Given the description of an element on the screen output the (x, y) to click on. 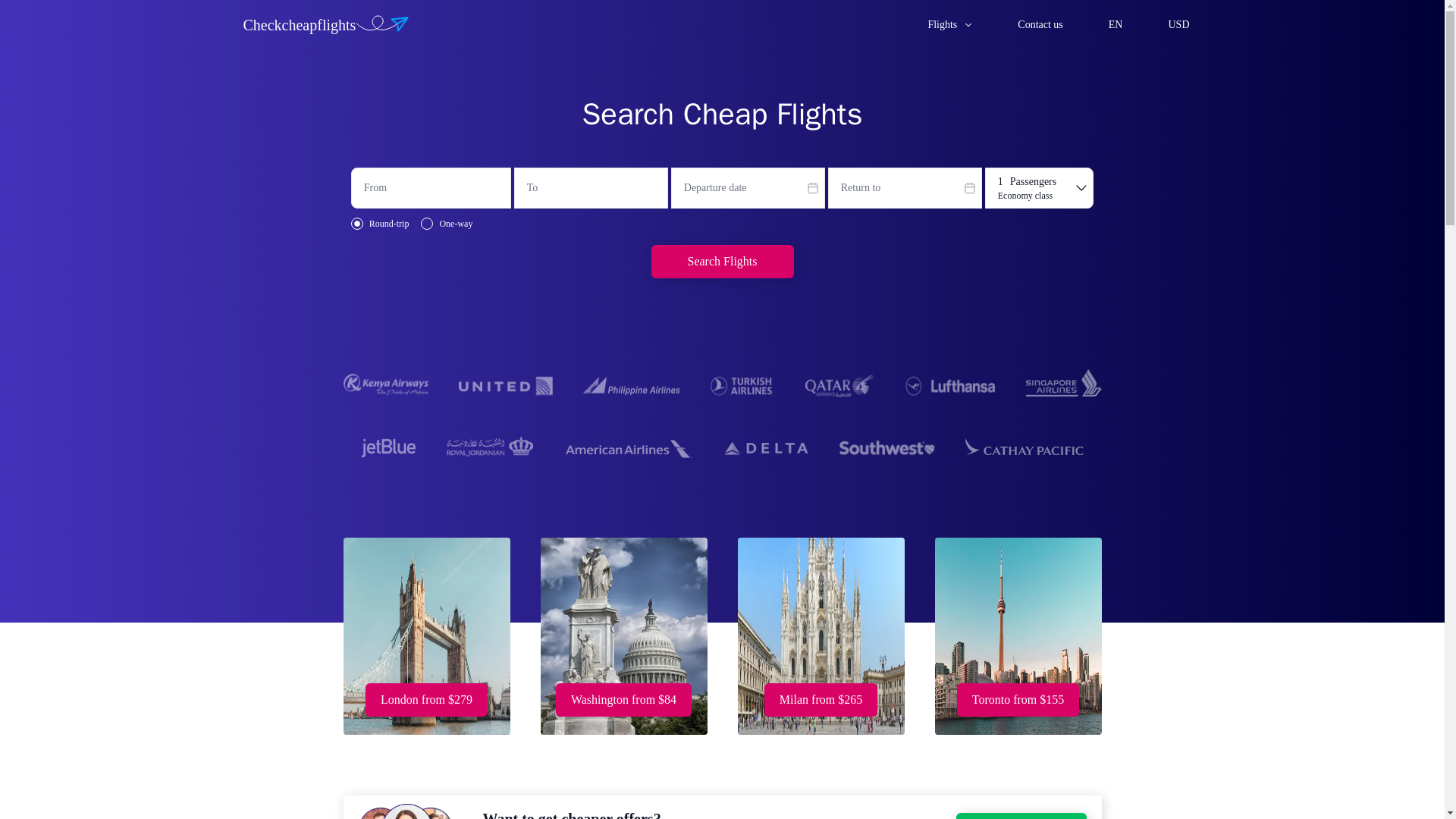
EN (1117, 23)
one-way (426, 223)
round-trip (356, 223)
USD (1179, 23)
Contact us (1042, 23)
Flights (951, 23)
Checkcheapflights (336, 24)
Search Flights (721, 261)
